Given the description of an element on the screen output the (x, y) to click on. 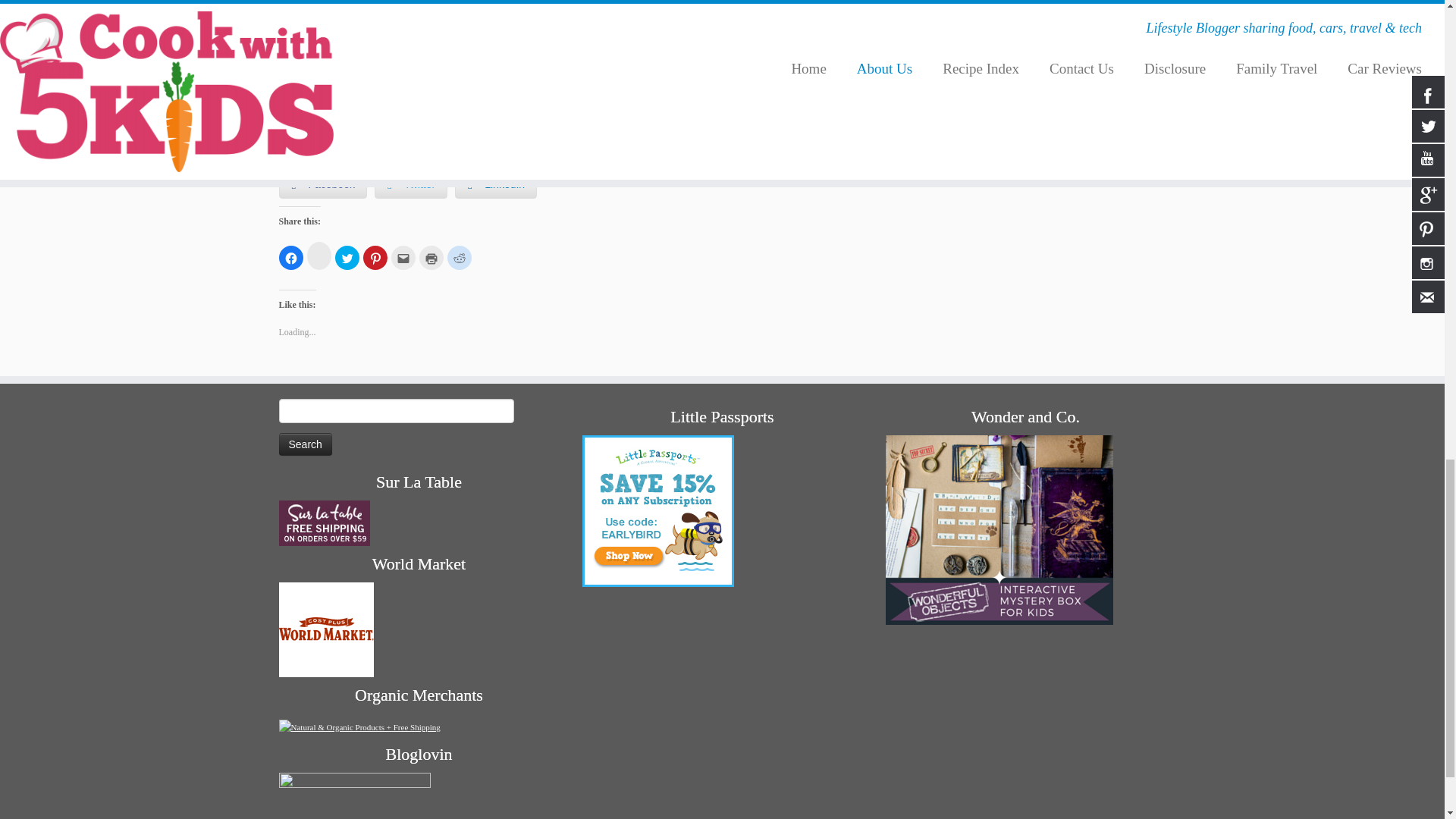
LinkedIn (495, 184)
Youtube (511, 118)
Facebook (322, 184)
Click to share on Twitter (346, 257)
Click to share on Pinterest (374, 257)
Click to share on Reddit (458, 257)
Click to share on Facebook (290, 257)
Twitter (299, 23)
Facebook (404, 0)
Search (305, 444)
